Given the description of an element on the screen output the (x, y) to click on. 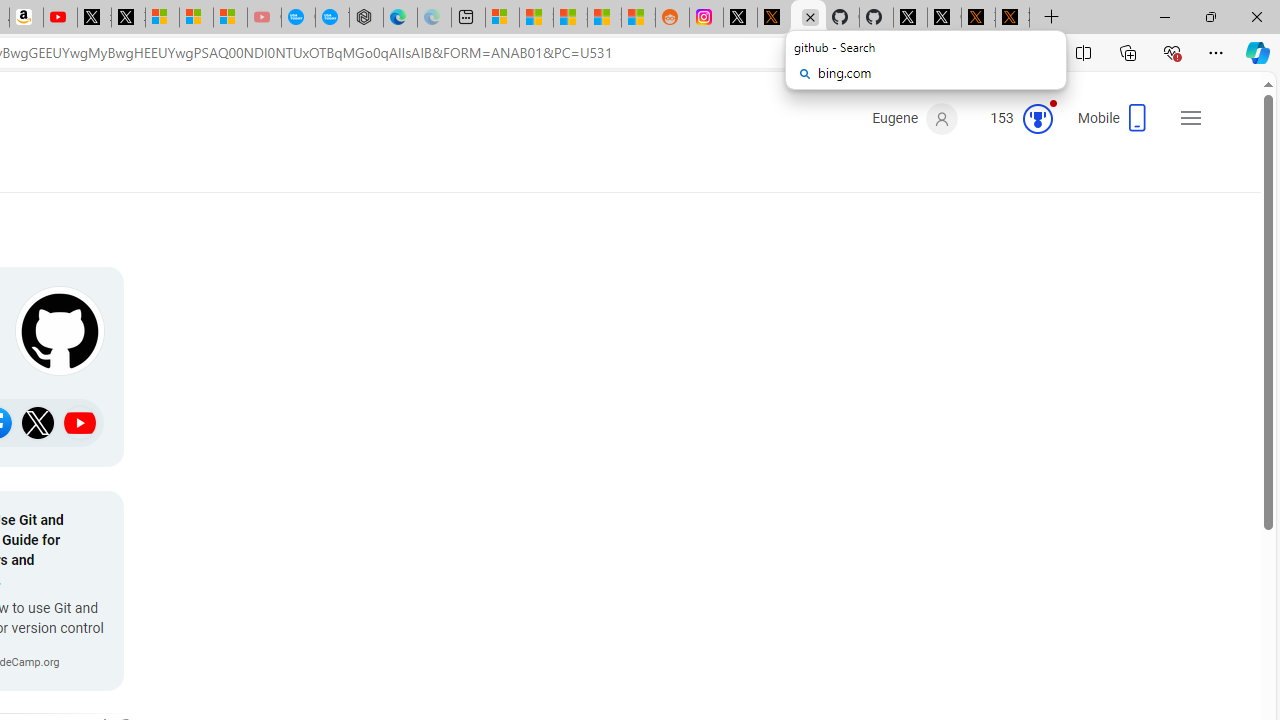
Microsoft Rewards 153 (1014, 119)
Mobile (1114, 124)
X (127, 17)
Shanghai, China Weather trends | Microsoft Weather (638, 17)
Copilot (Ctrl+Shift+.) (1258, 52)
Gloom - YouTube - Sleeping (264, 17)
Opinion: Op-Ed and Commentary - USA TODAY (297, 17)
Eugene (914, 119)
New tab (468, 17)
